Given the description of an element on the screen output the (x, y) to click on. 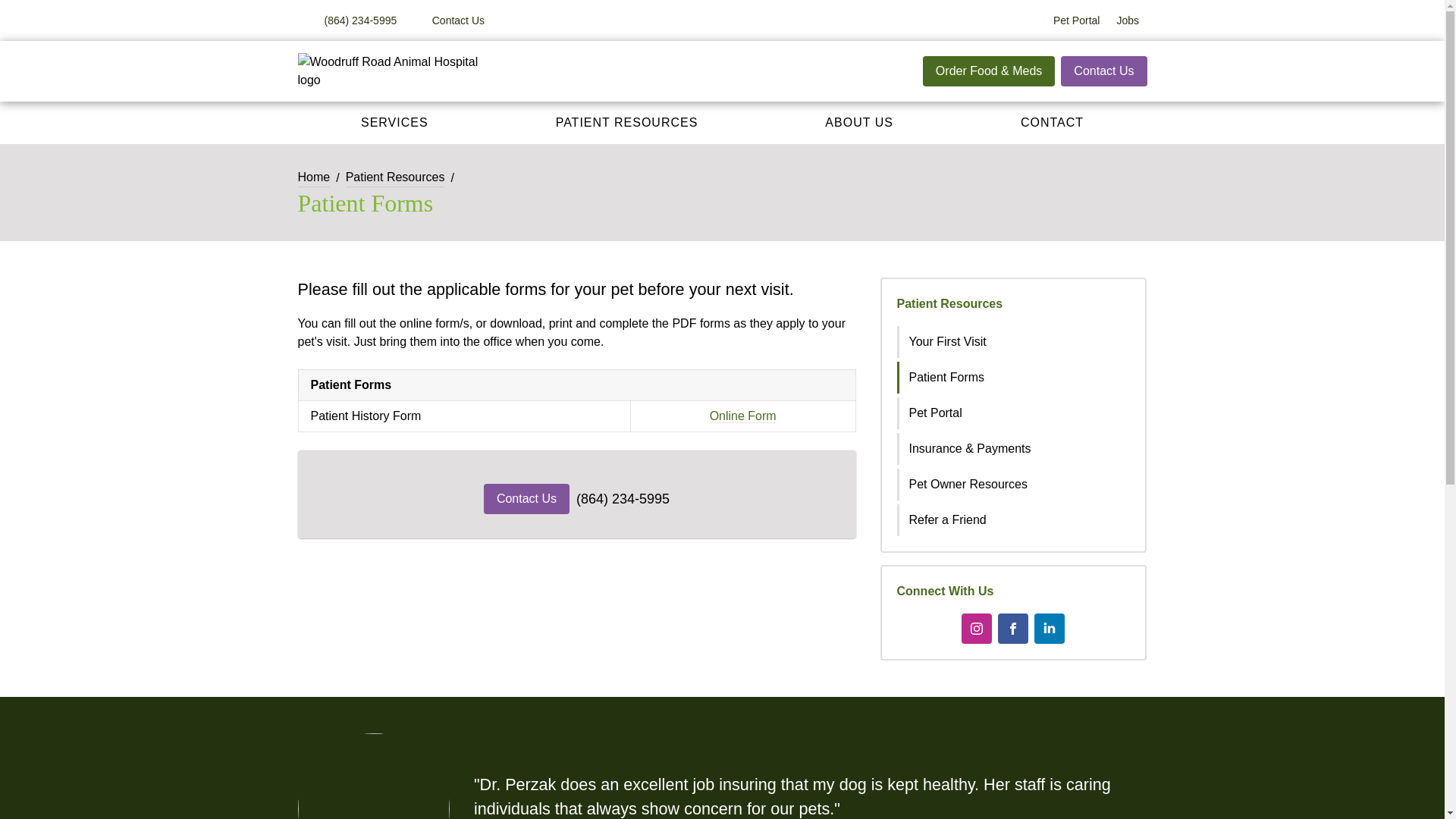
Contact Us (1104, 71)
Patient Resources (949, 303)
Home (313, 177)
Contact Us (449, 20)
PATIENT RESOURCES (626, 122)
Your First Visit (1015, 341)
Patient Forms (1015, 377)
Instagram (975, 628)
SERVICES (394, 122)
ABOUT US (858, 122)
